Given the description of an element on the screen output the (x, y) to click on. 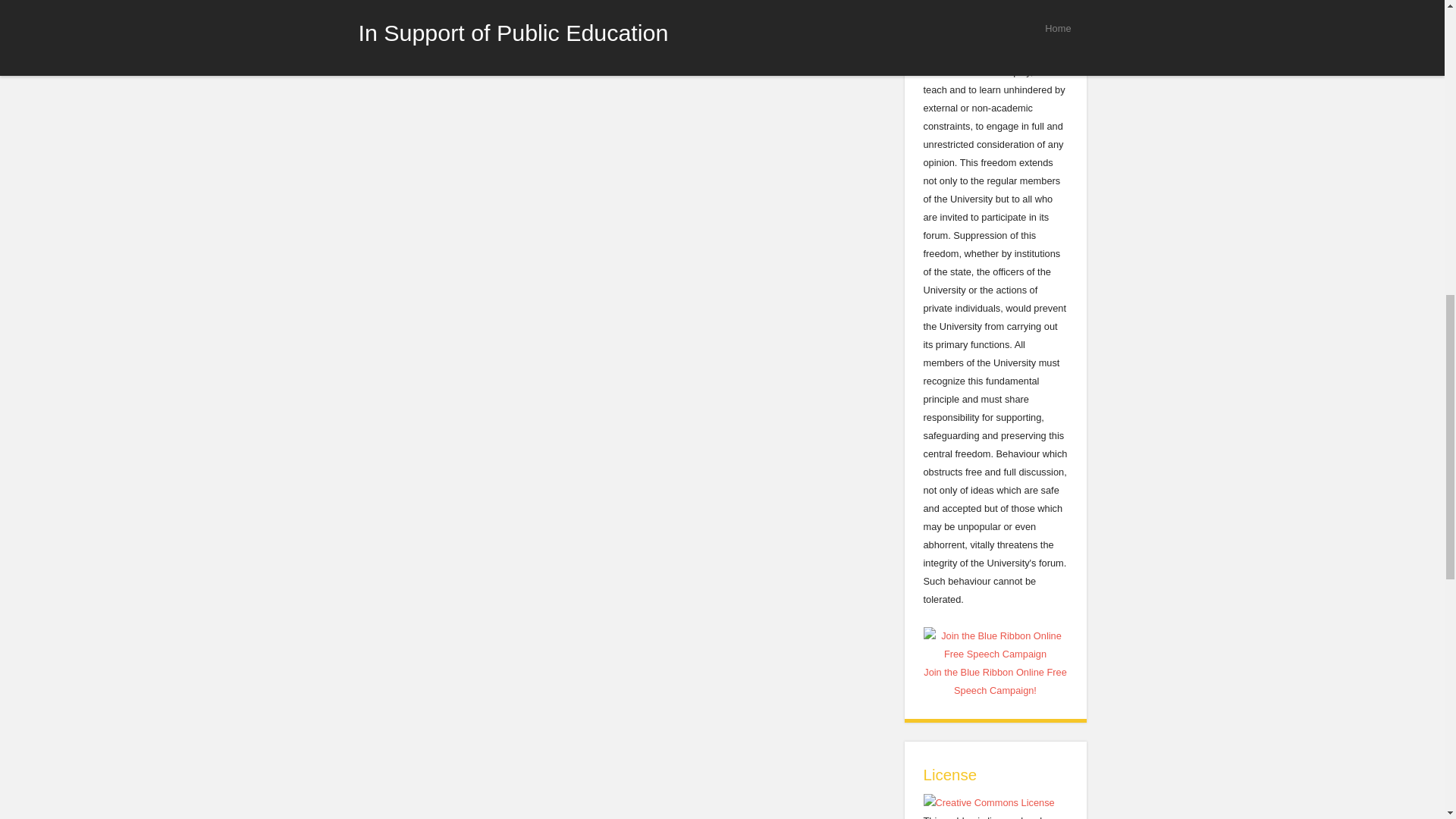
Join the Blue Ribbon Online Free Speech Campaign! (995, 666)
